Given the description of an element on the screen output the (x, y) to click on. 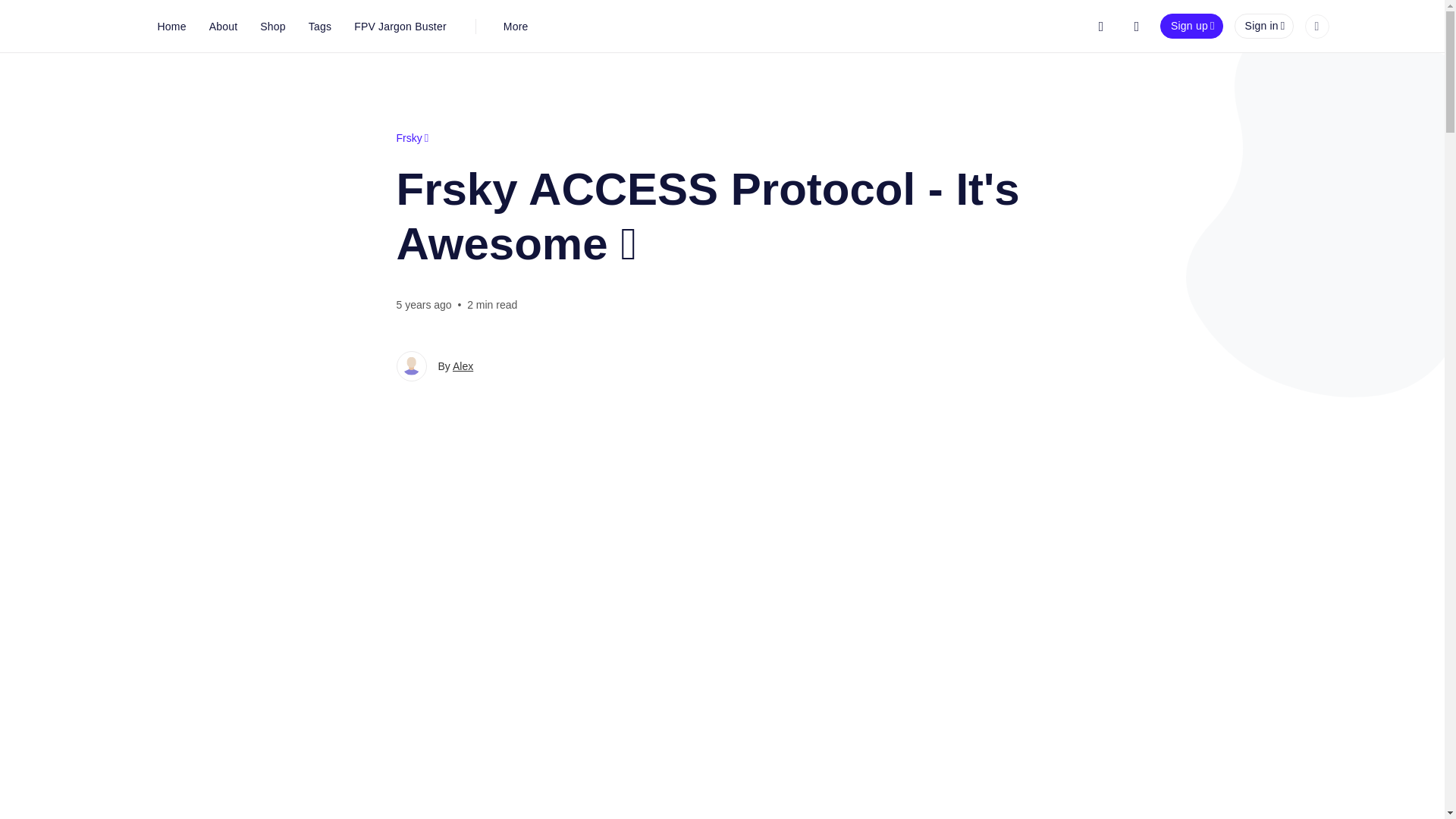
Shop (272, 26)
More (516, 26)
FPV Jargon Buster (400, 26)
Tags (319, 26)
Sign up (1191, 25)
Alex (462, 365)
Sign in (1264, 25)
Home (170, 26)
About (223, 26)
Frsky (412, 138)
